Given the description of an element on the screen output the (x, y) to click on. 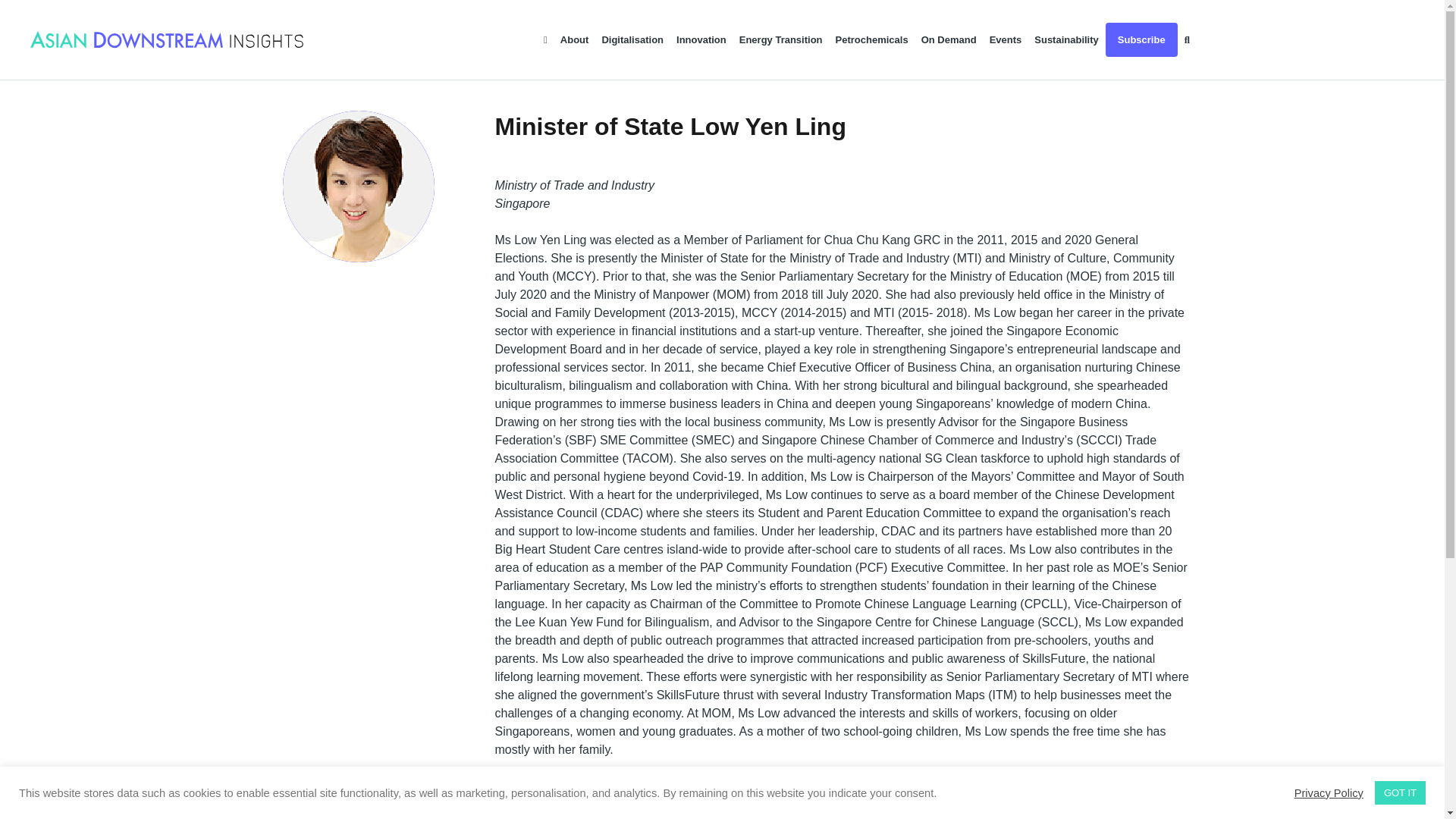
Digitalisation (632, 39)
low-yen-ling-resize (357, 186)
On Demand (948, 39)
Energy Transition (780, 39)
Sustainability (1066, 39)
GOT IT (1399, 792)
Innovation (700, 39)
Petrochemicals (871, 39)
logo (166, 39)
Events (1005, 39)
About (574, 39)
Subscribe (1141, 39)
Privacy Policy (1328, 792)
